Given the description of an element on the screen output the (x, y) to click on. 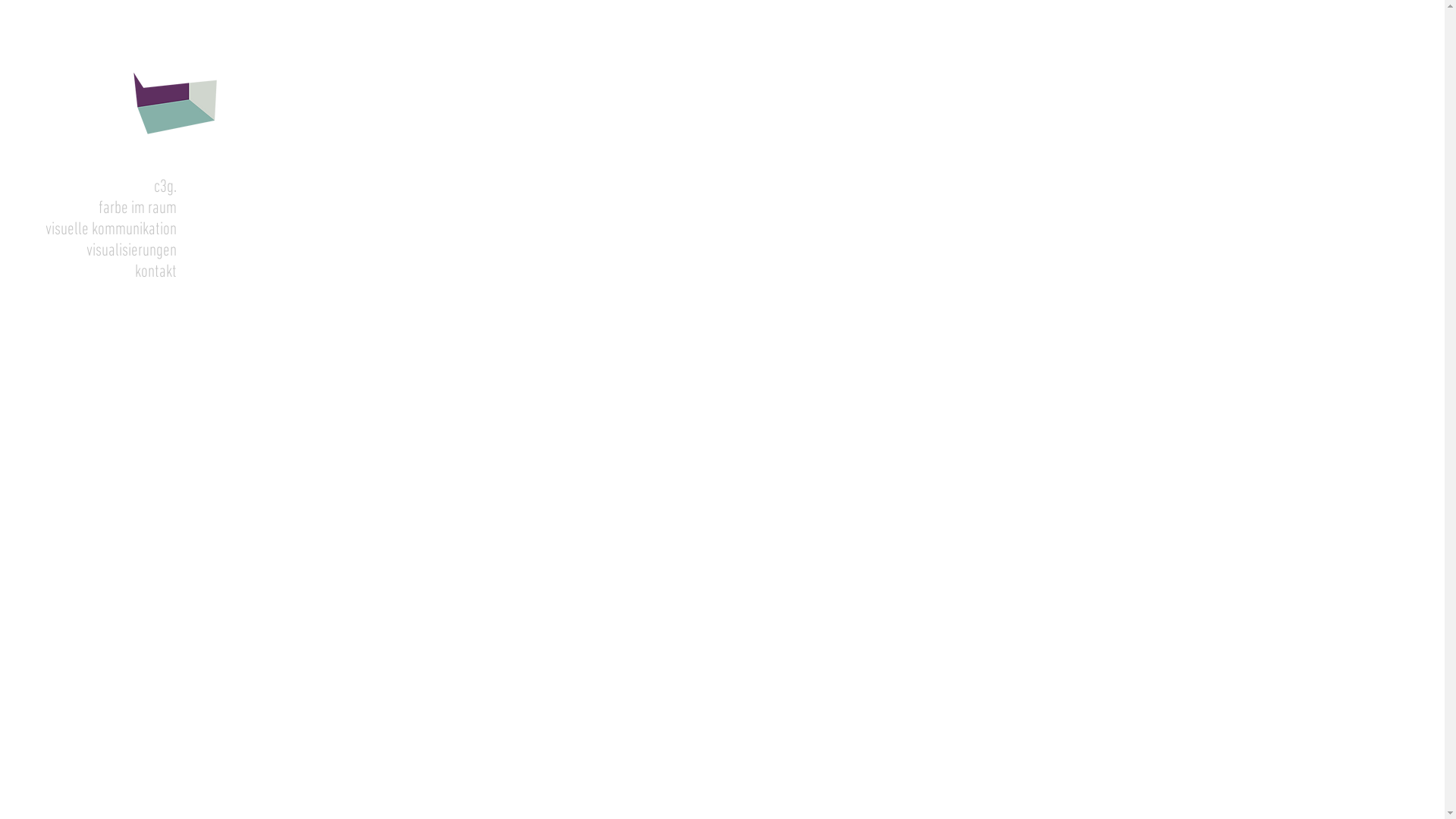
visuelle kommunikation Element type: text (88, 229)
visualisierungen Element type: text (88, 250)
c3g. Element type: text (88, 186)
kontakt Element type: text (88, 271)
farbe im raum Element type: text (88, 208)
